Given the description of an element on the screen output the (x, y) to click on. 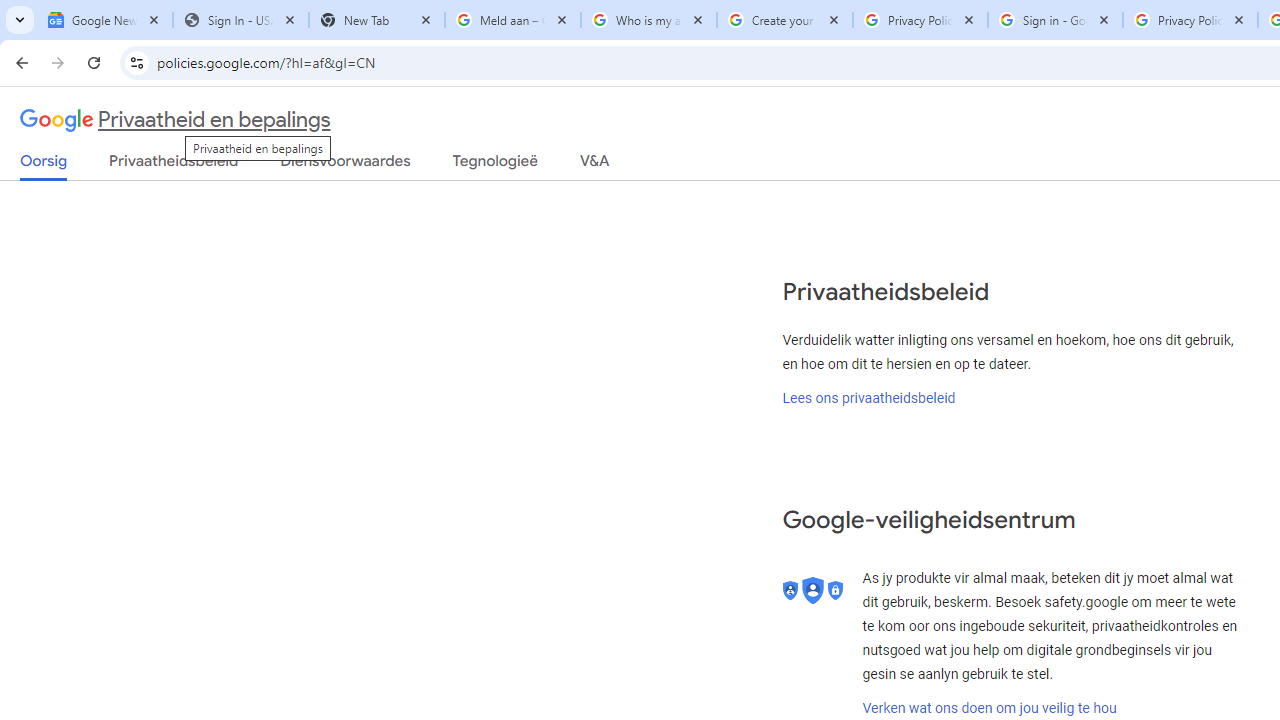
Google News (104, 20)
Who is my administrator? - Google Account Help (648, 20)
Create your Google Account (784, 20)
Oorsig (43, 166)
Lees ons privaatheidsbeleid (869, 397)
Diensvoorwaardes (345, 165)
Privaatheid en bepalings (175, 120)
Sign in - Google Accounts (1055, 20)
V&A (594, 165)
